Given the description of an element on the screen output the (x, y) to click on. 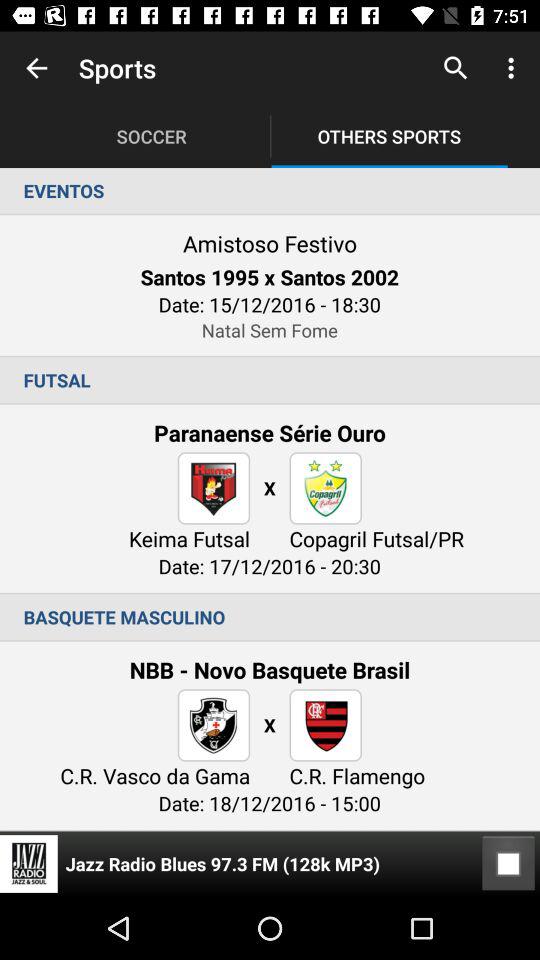
tap the app to the left of the sports app (36, 68)
